Given the description of an element on the screen output the (x, y) to click on. 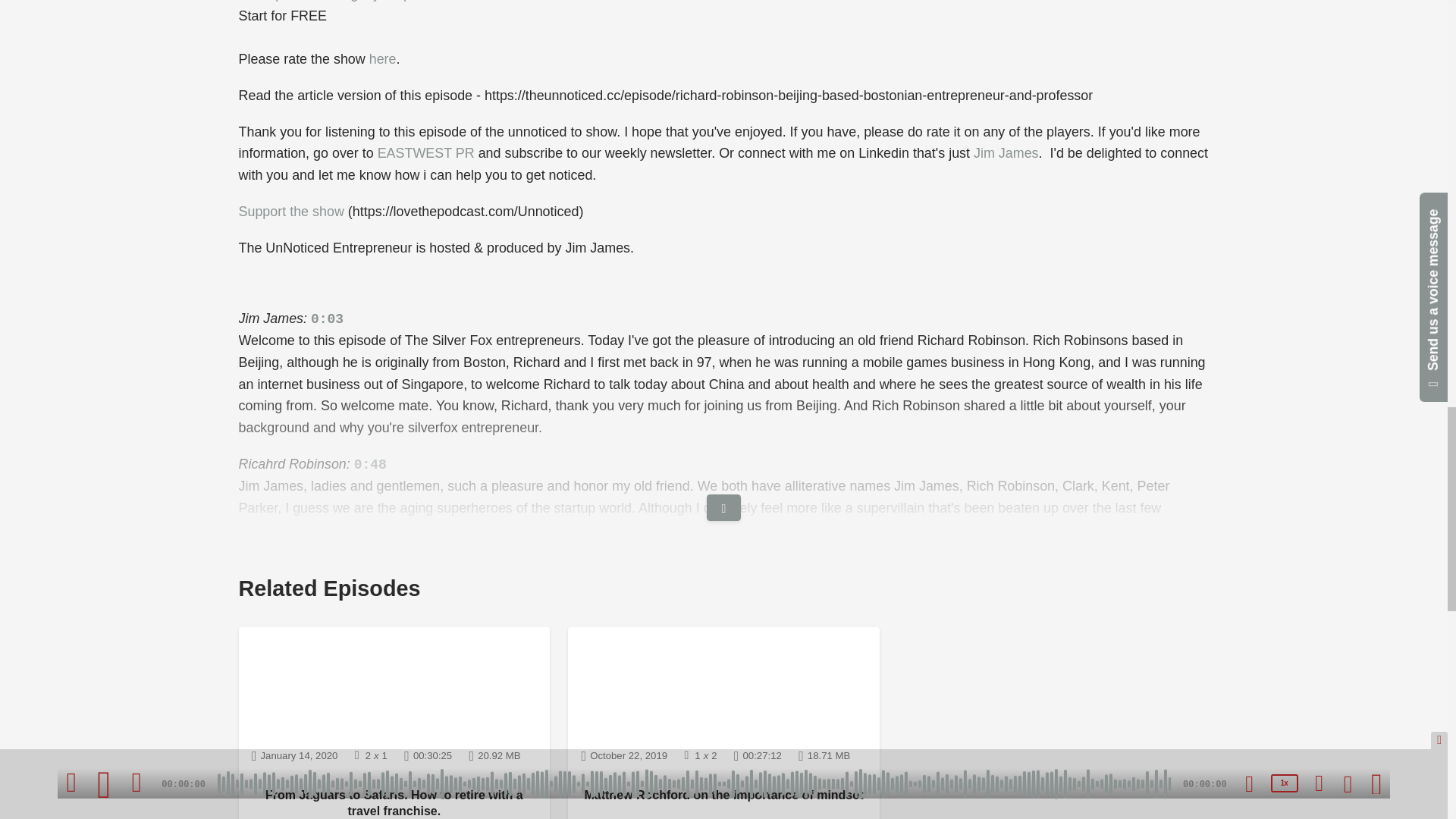
Episode Duration (427, 754)
Matthew Rochford on the importance of mindset (723, 688)
Episode Weight (494, 754)
here (382, 58)
EASTWEST PR (428, 152)
Date (294, 754)
